Given the description of an element on the screen output the (x, y) to click on. 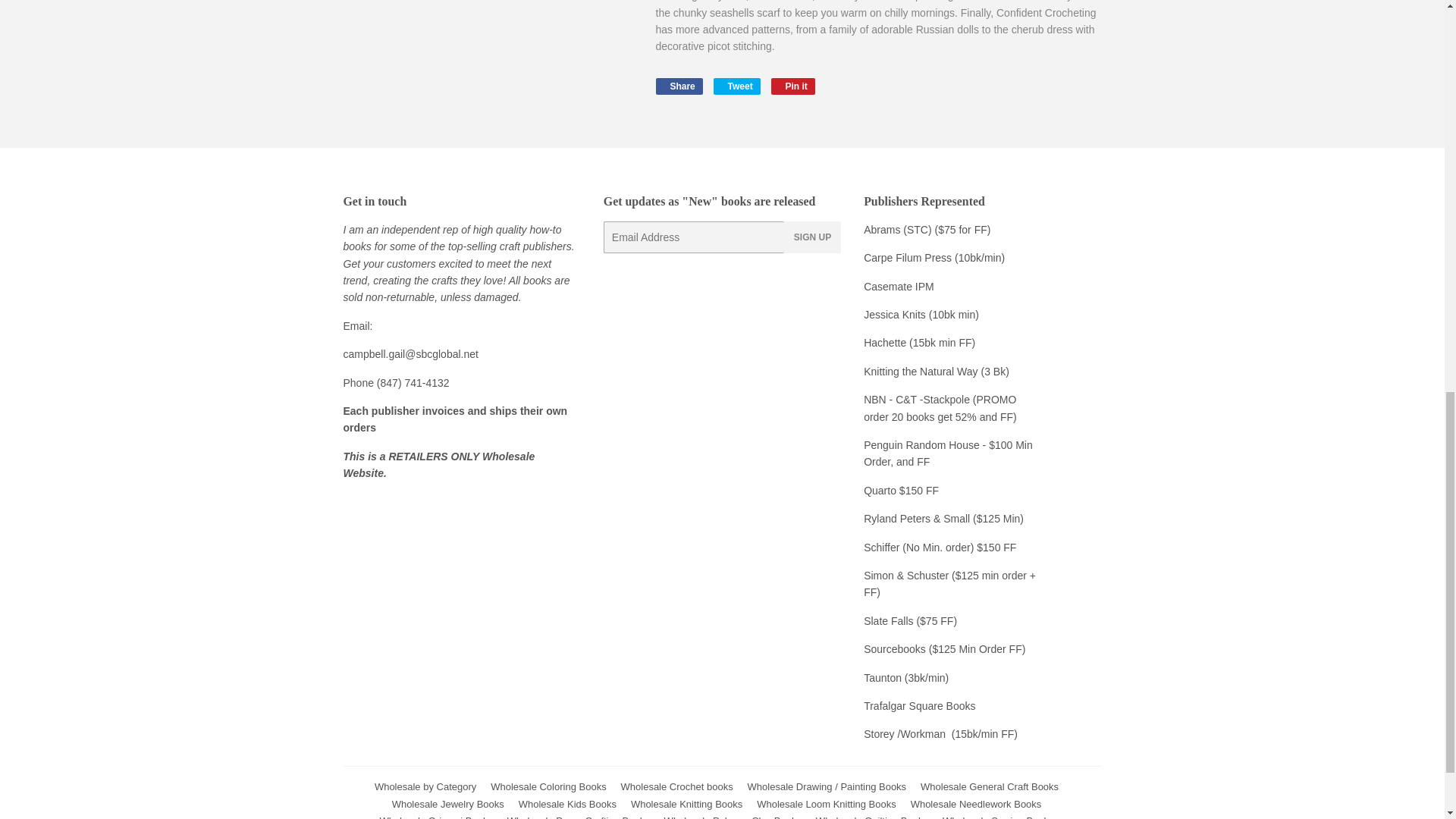
Quarto (881, 490)
SIGN UP (812, 237)
Schiffer (882, 547)
Carpe Filum Press (907, 257)
Casemate IPM (898, 286)
Knitting the Natural Way (793, 86)
Hachette (678, 86)
Sourcebooks (919, 371)
Pin on Pinterest (884, 342)
Knitting the Natural Way (944, 648)
Tweet on Twitter (793, 86)
Share on Facebook (919, 371)
